Given the description of an element on the screen output the (x, y) to click on. 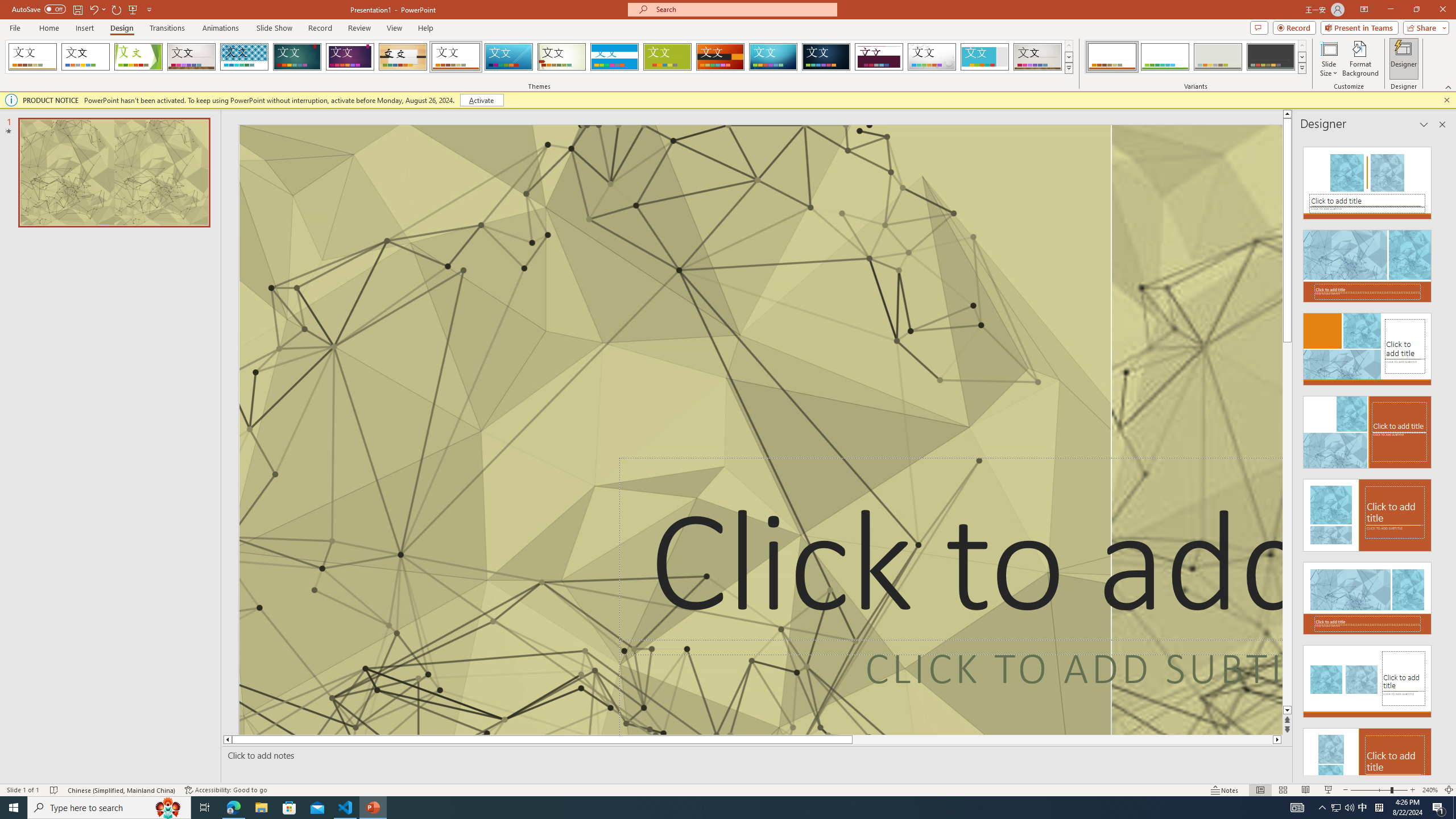
Retrospect (455, 56)
Ion Boardroom (350, 56)
Slide Size (1328, 58)
Facet (138, 56)
Close this message (1446, 99)
Ion (296, 56)
Gallery (1037, 56)
Class: NetUIScrollBar (1441, 456)
Droplet (931, 56)
Dividend (879, 56)
